Given the description of an element on the screen output the (x, y) to click on. 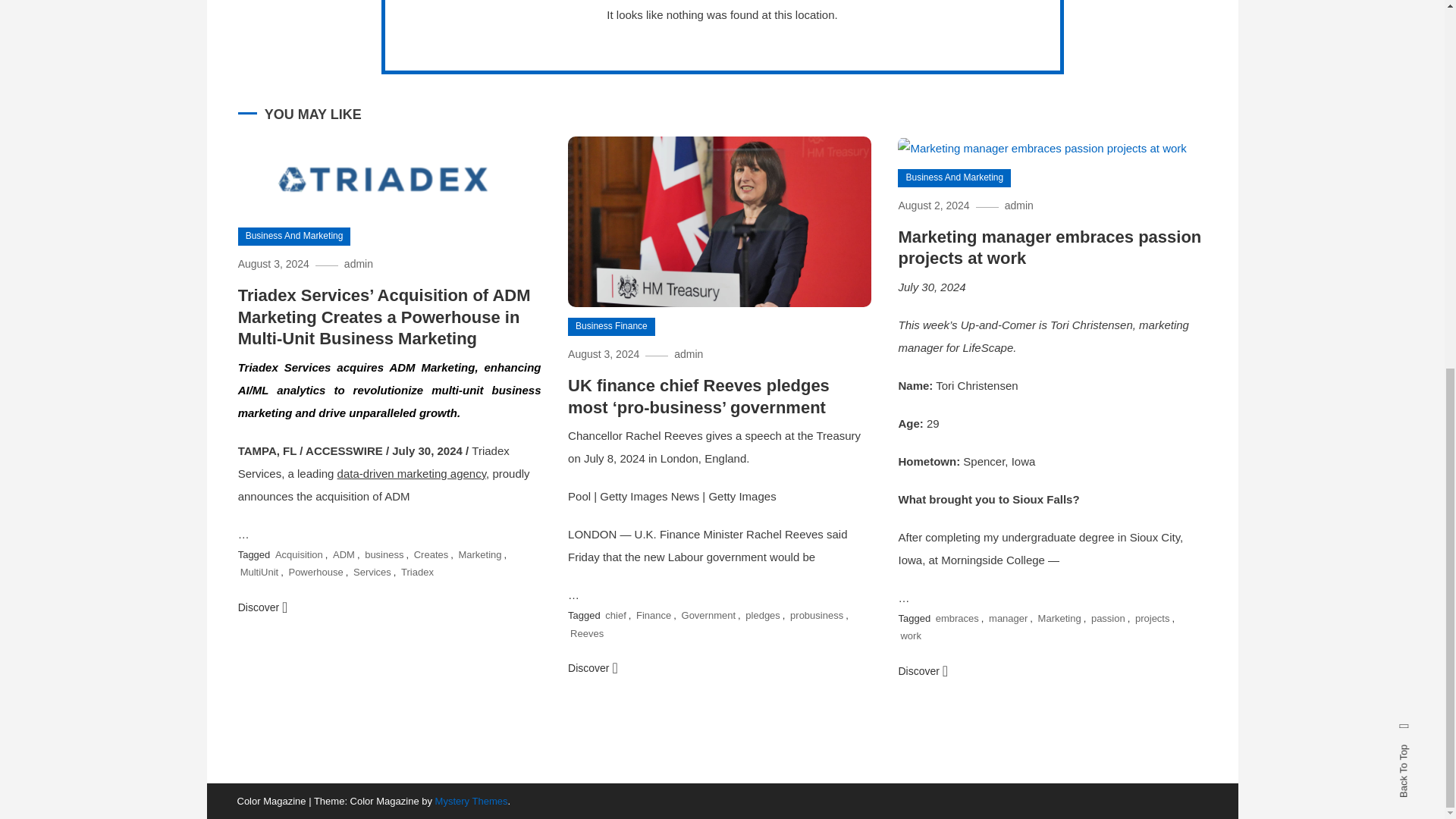
August 3, 2024 (273, 263)
Business And Marketing (294, 236)
admin (357, 263)
